Given the description of an element on the screen output the (x, y) to click on. 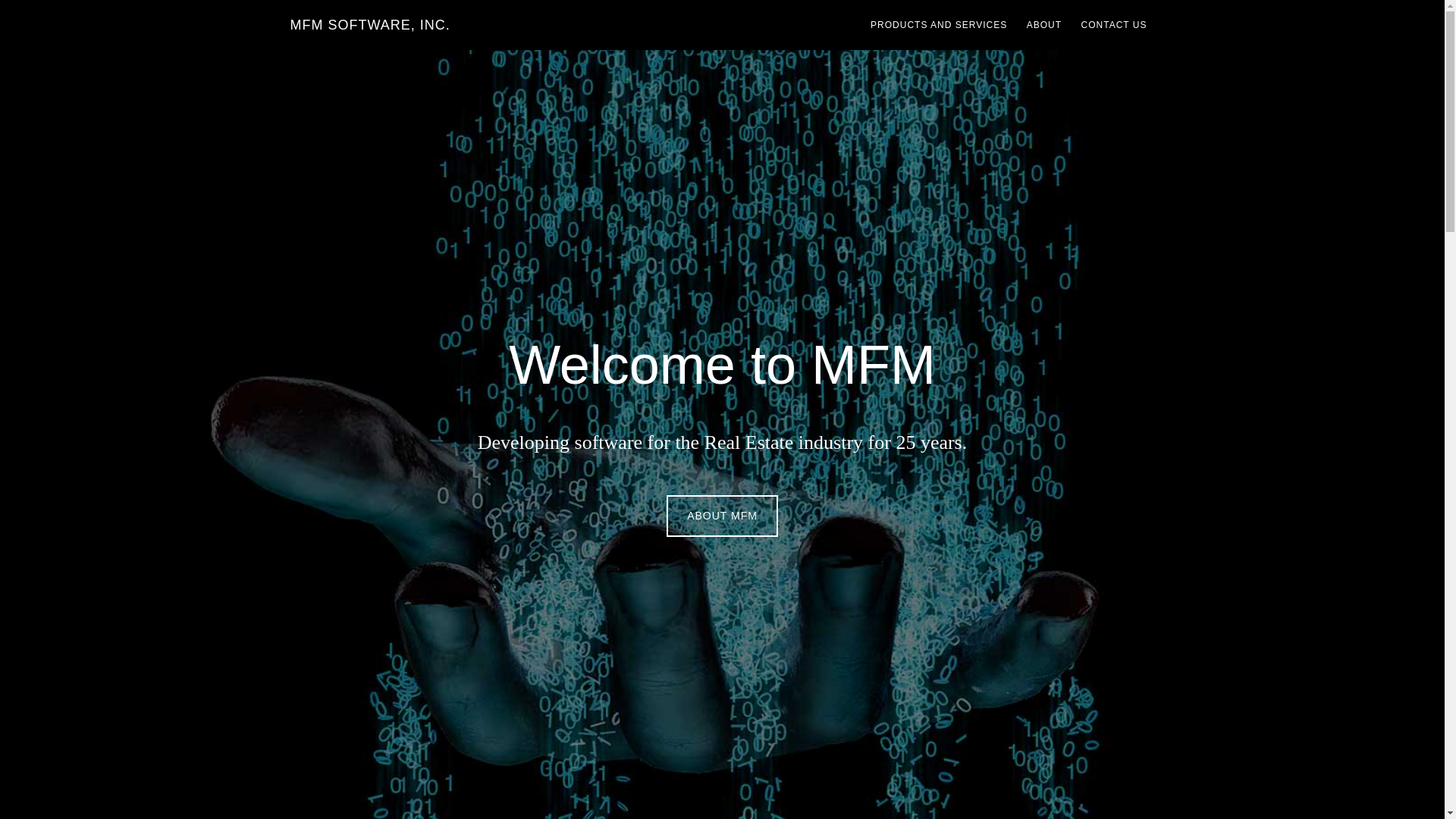
CONTACT US (1114, 24)
ABOUT MFM (721, 516)
ABOUT (1043, 24)
MFM SOFTWARE, INC. (369, 24)
PRODUCTS AND SERVICES (938, 24)
